Given the description of an element on the screen output the (x, y) to click on. 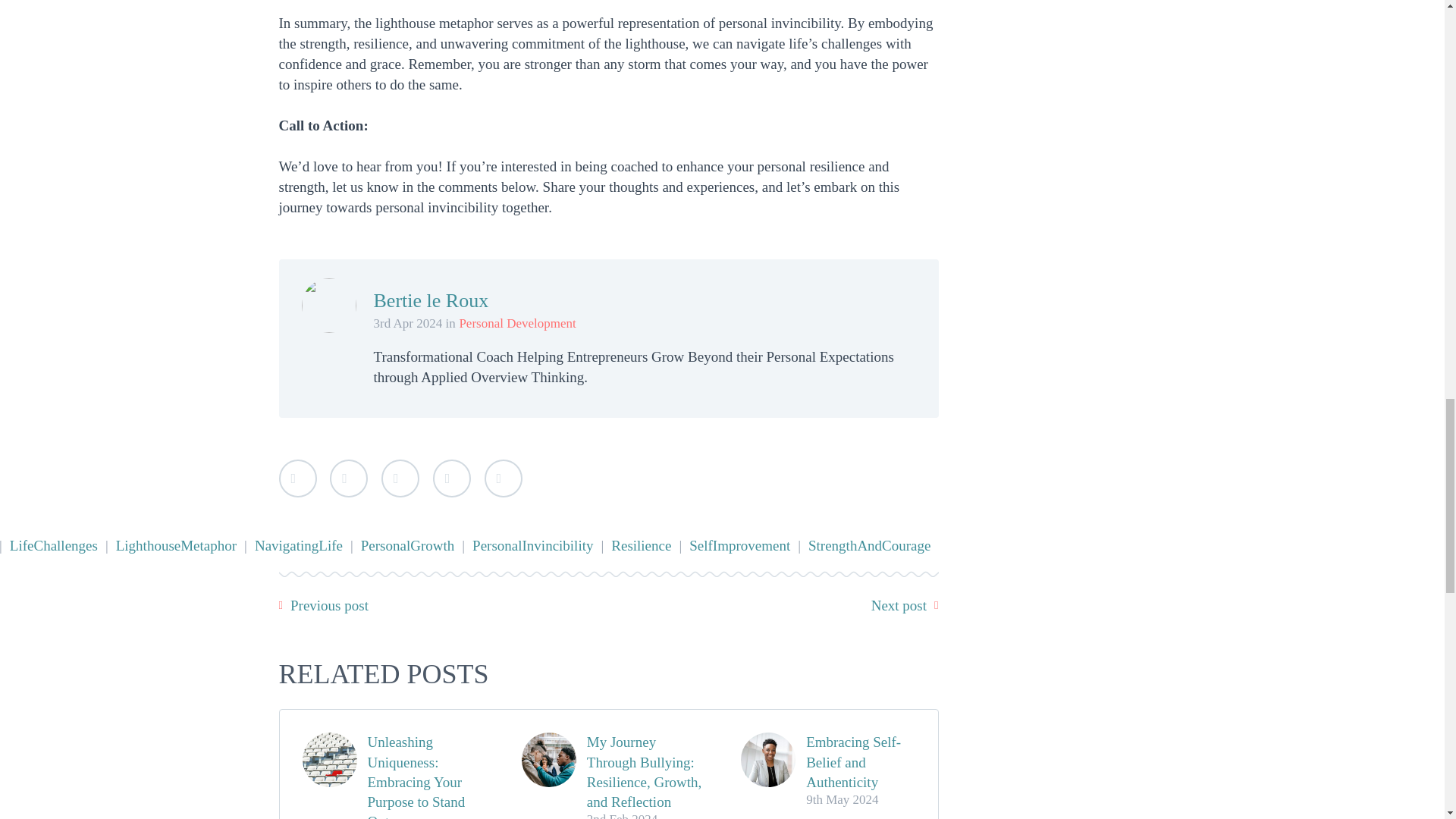
Resilience (641, 545)
Twitter (298, 478)
StrengthAndCourage (868, 545)
SelfImprovement (739, 545)
Next post (898, 605)
Google Plus (400, 478)
PersonalInvincibility (531, 545)
NavigatingLife (298, 545)
Twitter (298, 478)
PersonalGrowth (407, 545)
StumbleUpon (502, 478)
LinkedIn (451, 478)
Personal Development (516, 323)
StumbleUpon (502, 478)
